Given the description of an element on the screen output the (x, y) to click on. 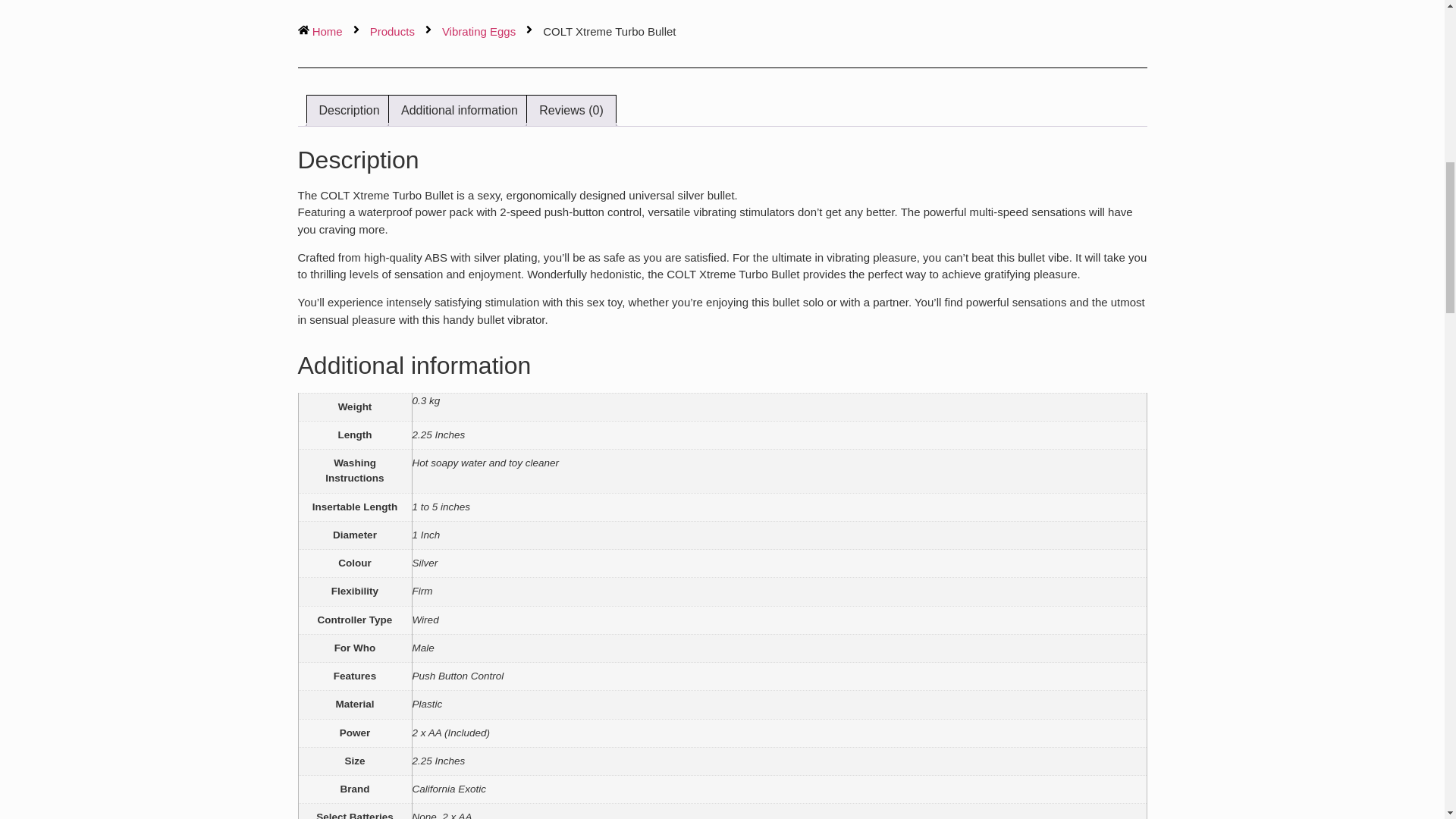
Home (319, 31)
Products (391, 31)
Vibrating Eggs (478, 31)
COLT Xtreme Turbo Bullet (609, 31)
